Given the description of an element on the screen output the (x, y) to click on. 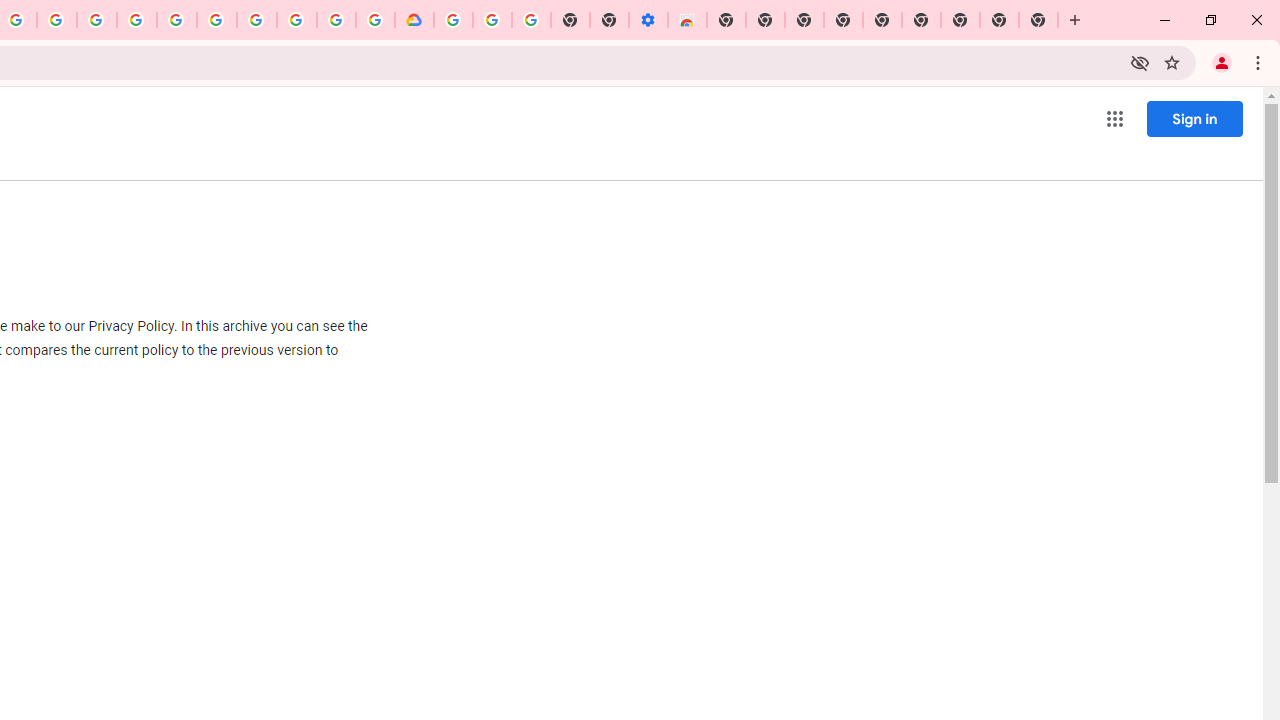
Settings - Accessibility (648, 20)
Sign in - Google Accounts (453, 20)
Ad Settings (136, 20)
New Tab (1038, 20)
Create your Google Account (56, 20)
Sign in - Google Accounts (177, 20)
Google Account Help (256, 20)
